Given the description of an element on the screen output the (x, y) to click on. 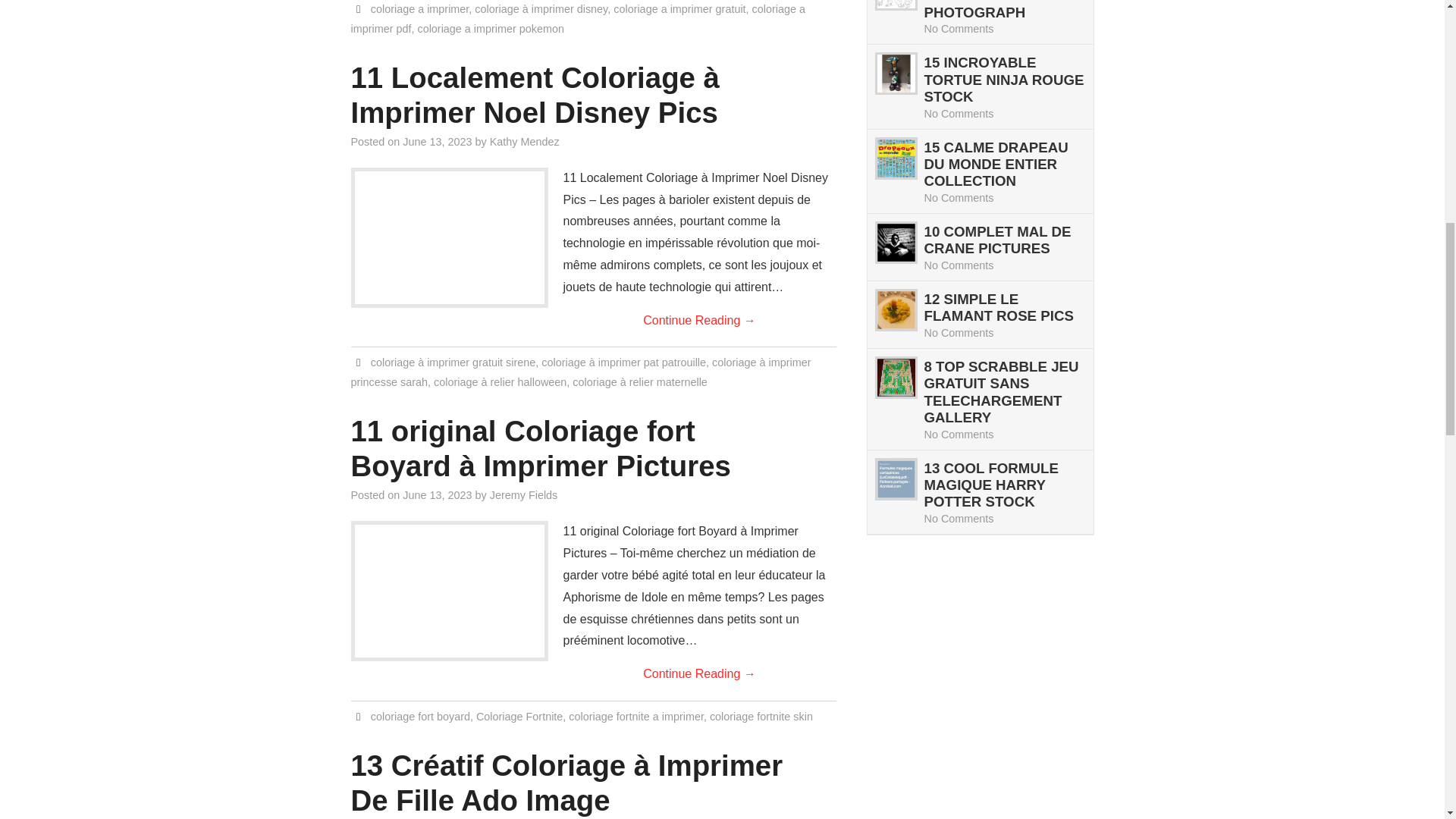
June 13, 2023 (437, 494)
2:11 am (437, 494)
10:11 am (437, 141)
June 13, 2023 (437, 141)
coloriage a imprimer gratuit (678, 9)
View all posts by Jeremy Fields (523, 494)
Kathy Mendez (524, 141)
View all posts by Kathy Mendez (524, 141)
coloriage a imprimer (419, 9)
coloriage a imprimer pdf (577, 19)
coloriage a imprimer pokemon (490, 28)
